Given the description of an element on the screen output the (x, y) to click on. 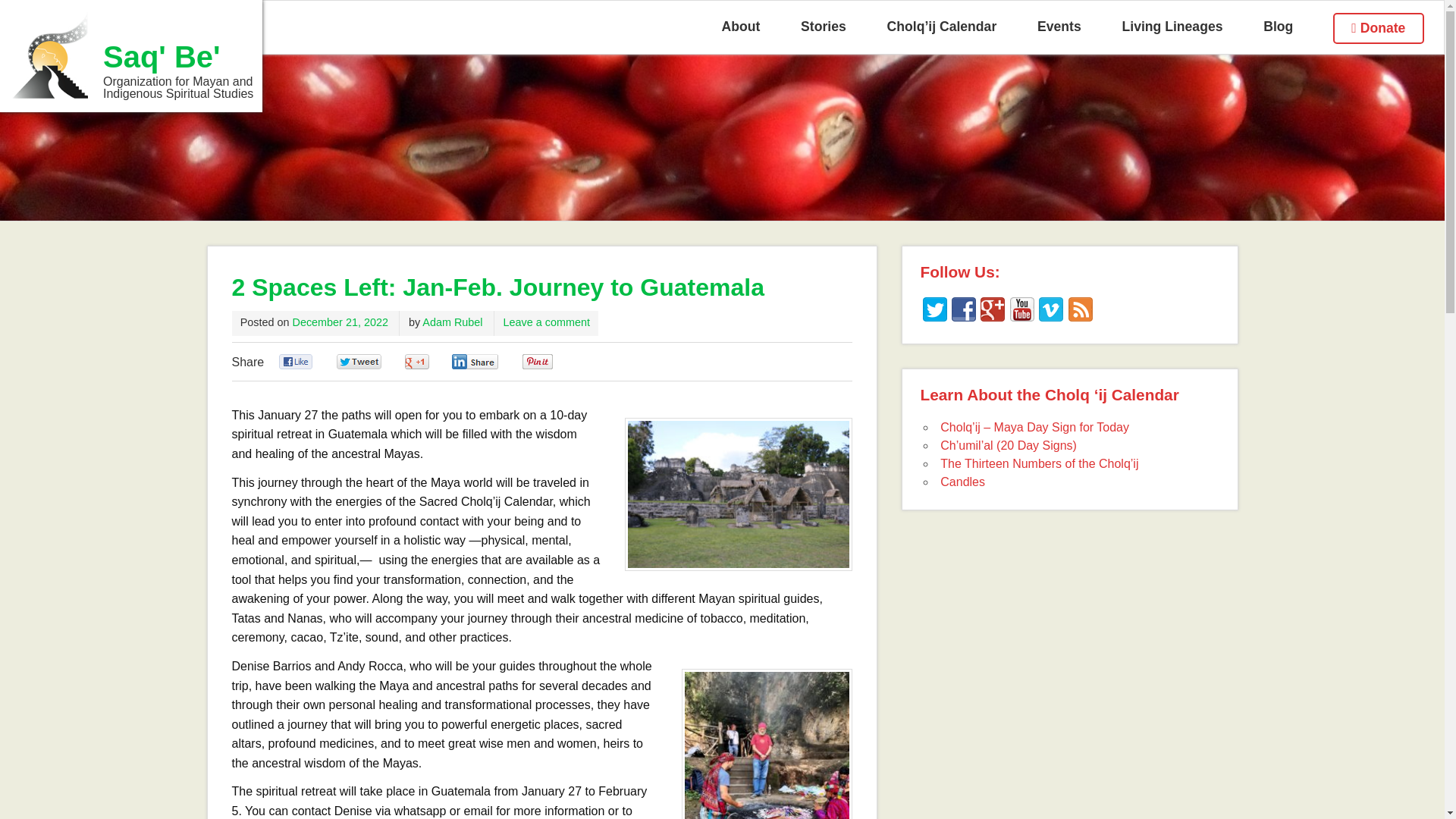
Adam Rubel (451, 322)
Be the first one to tweet this article! (374, 361)
About (740, 27)
Donate (1378, 28)
Leave a comment (546, 322)
Events (1058, 27)
Living Lineages (1172, 27)
Saq' Be' (136, 57)
December 21, 2022 (340, 322)
11:28 am (340, 322)
Blog (1278, 27)
Stories (823, 27)
View all posts by Adam Rubel (451, 322)
